Given the description of an element on the screen output the (x, y) to click on. 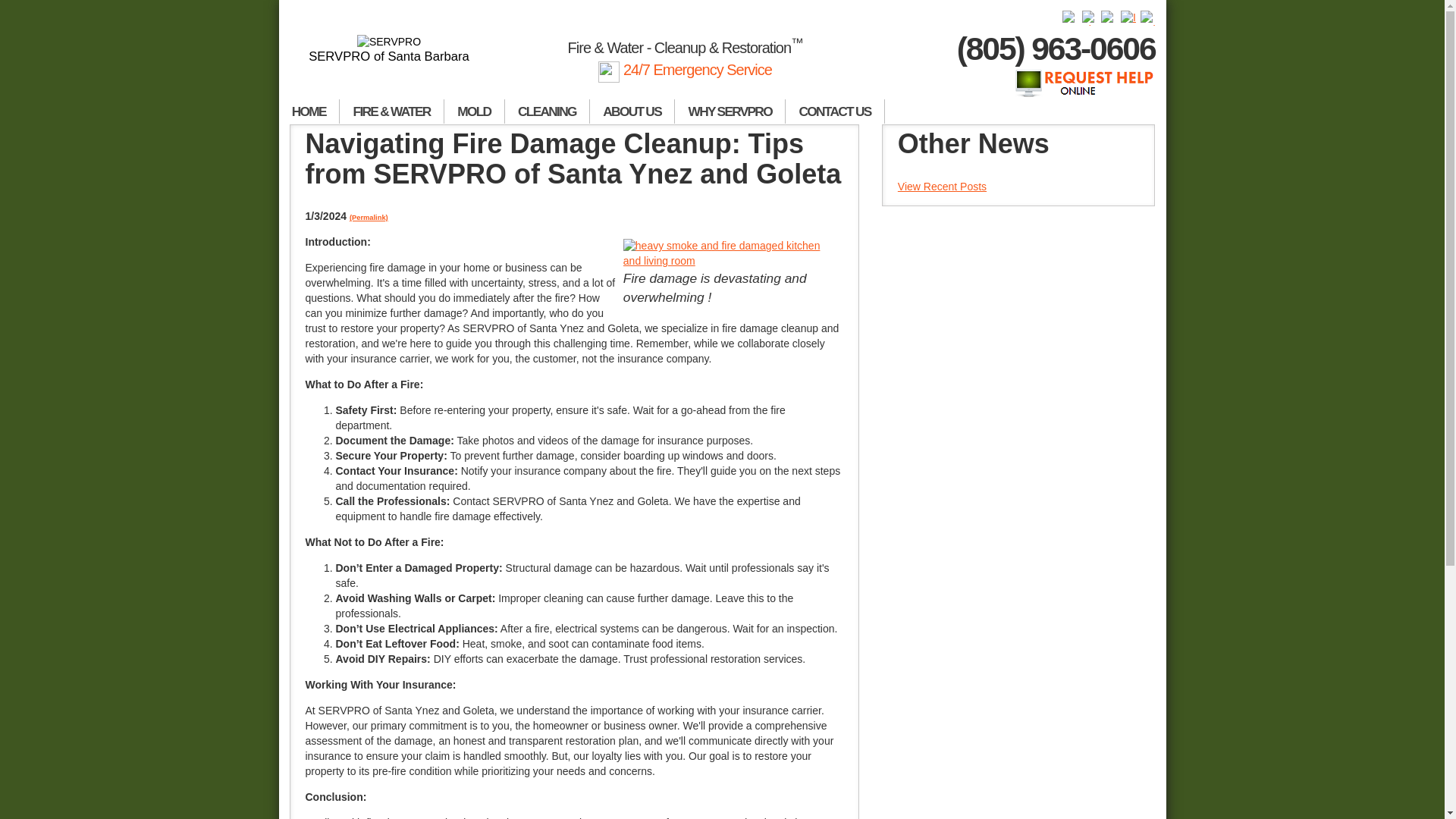
ABOUT US (632, 111)
SERVPRO of Santa Barbara (389, 49)
CLEANING (547, 111)
HOME (309, 111)
MOLD (474, 111)
